Given the description of an element on the screen output the (x, y) to click on. 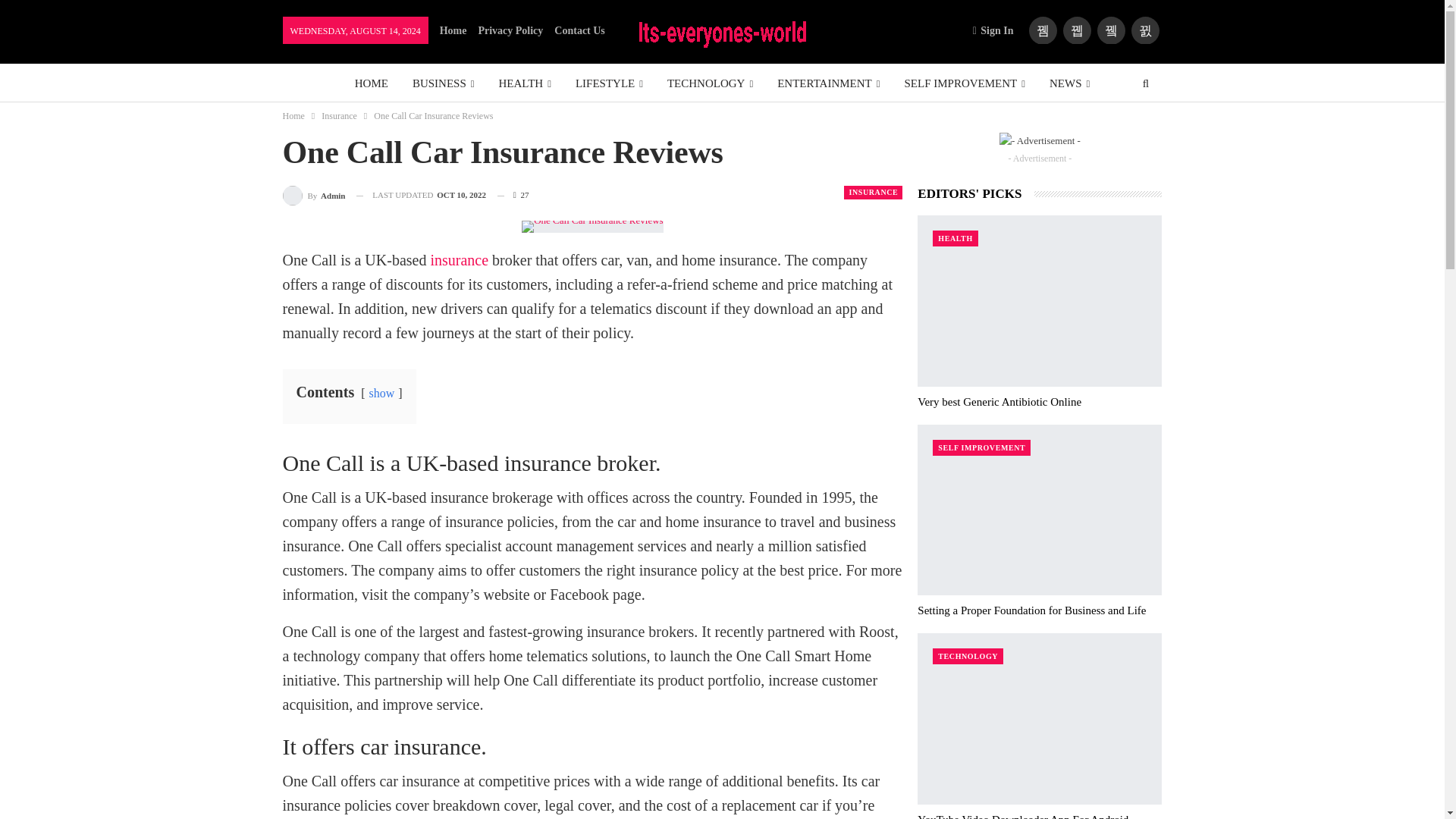
Sign In (996, 30)
BUSINESS (443, 83)
Very best Generic Antibiotic Online (999, 401)
HOME (371, 83)
HEALTH (524, 83)
ENTERTAINMENT (828, 83)
Privacy Policy (510, 30)
TECHNOLOGY (709, 83)
LIFESTYLE (609, 83)
Home (453, 30)
